Given the description of an element on the screen output the (x, y) to click on. 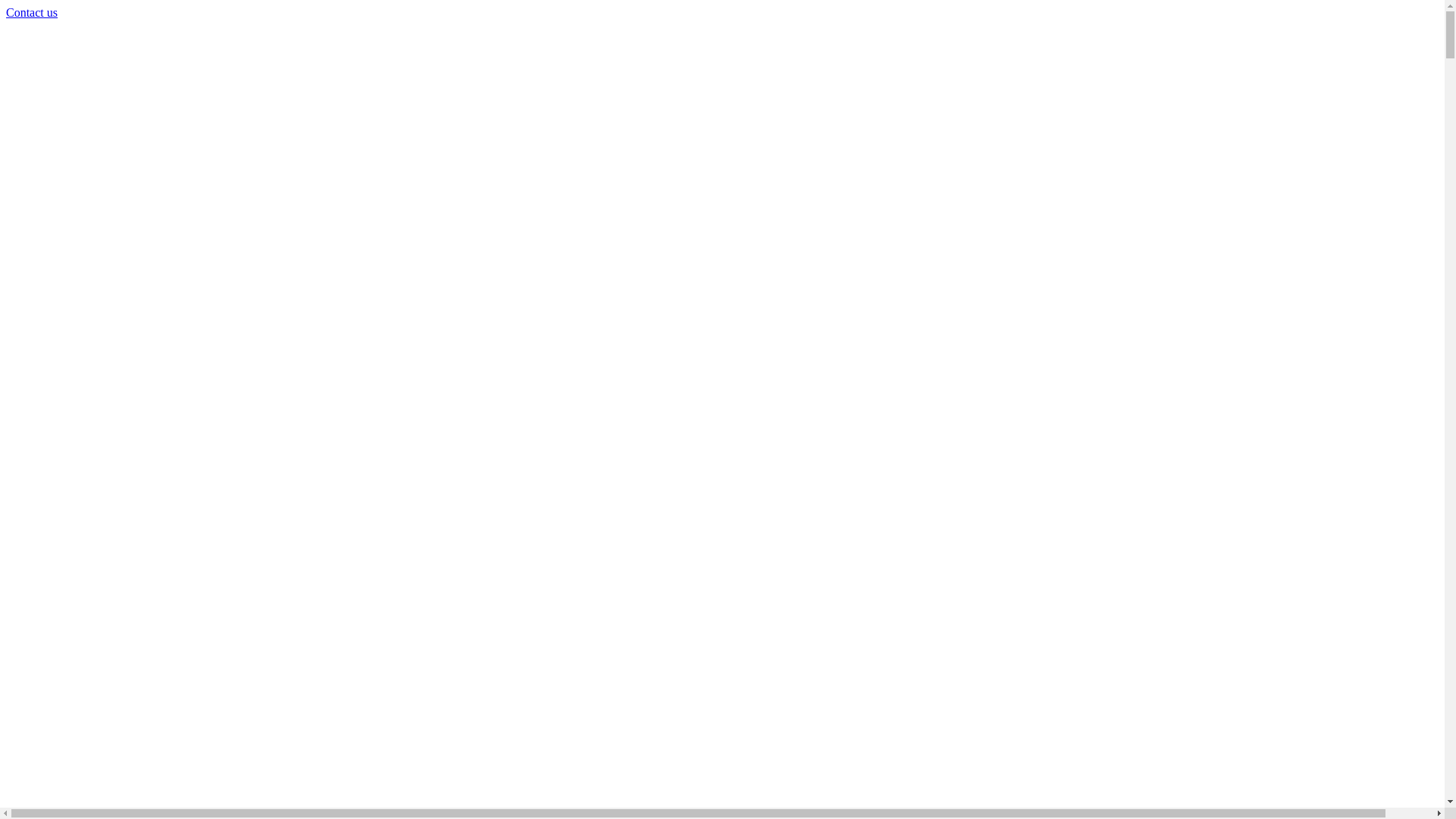
Contact us Element type: text (31, 12)
